Given the description of an element on the screen output the (x, y) to click on. 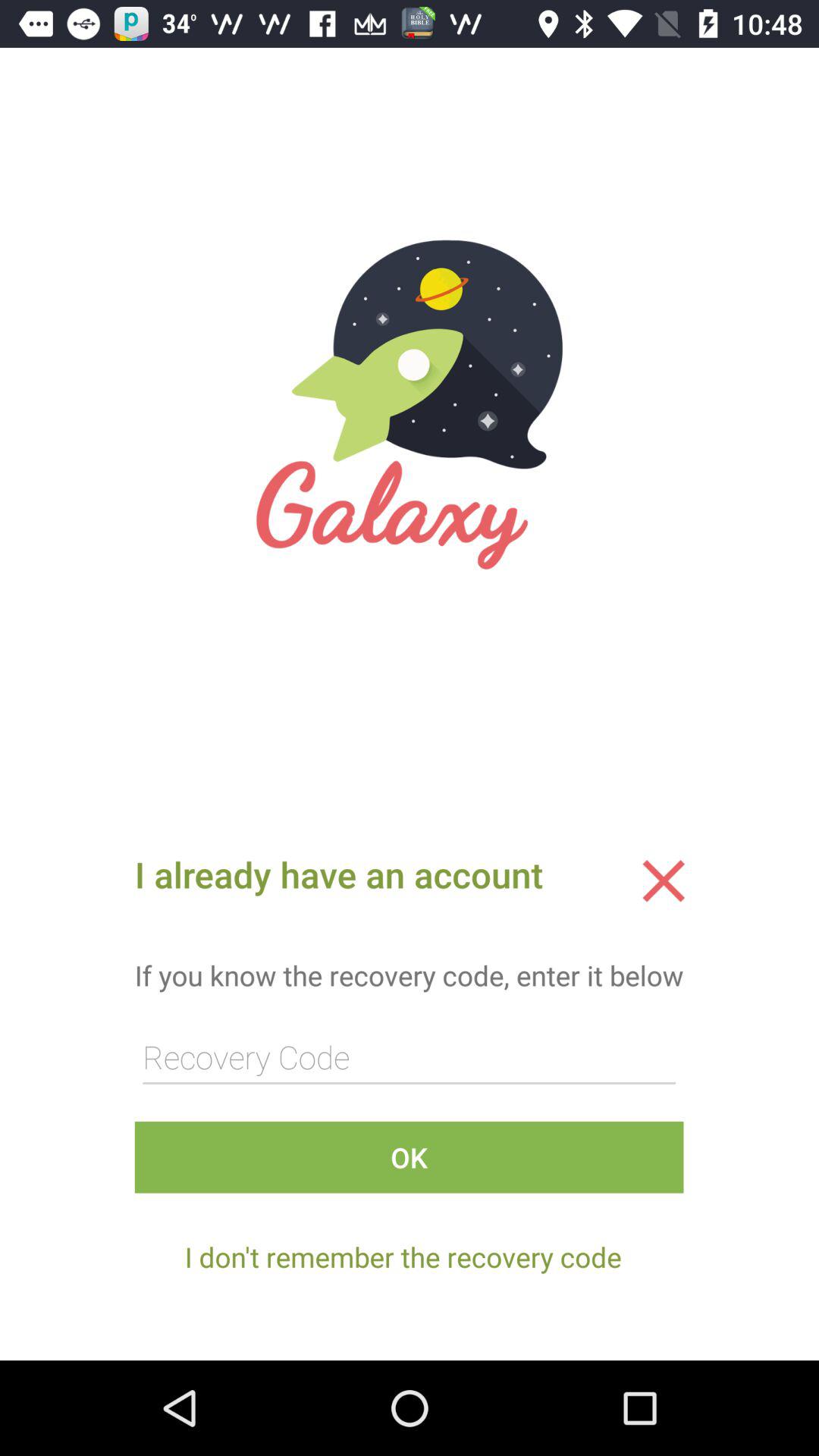
fill in the code (408, 1057)
